Given the description of an element on the screen output the (x, y) to click on. 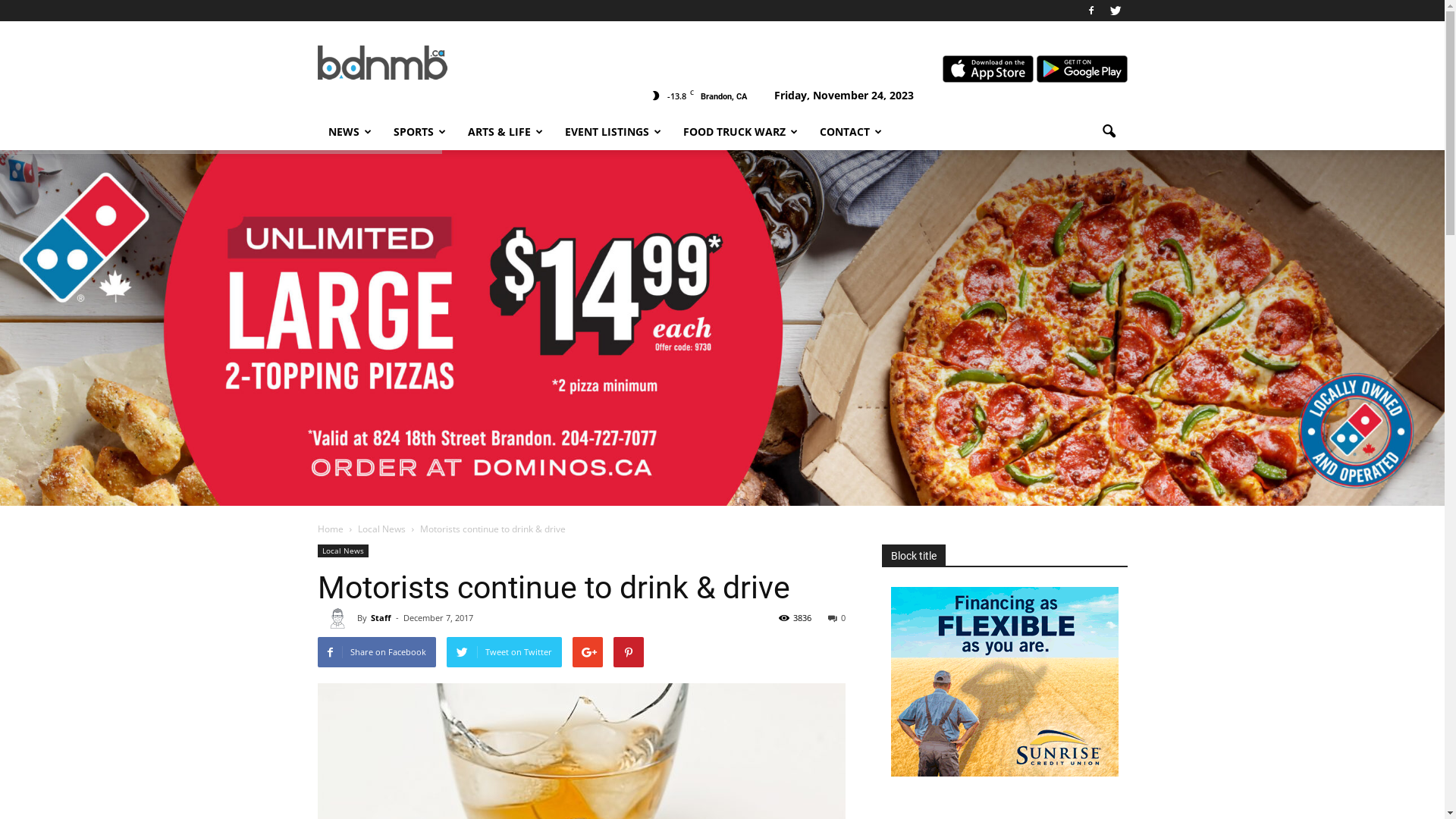
NEWS Element type: text (349, 131)
Home Element type: text (329, 528)
Local News Element type: text (341, 550)
SPORTS Element type: text (419, 131)
Staff Element type: text (380, 617)
Share on Facebook Element type: text (375, 652)
EVENT LISTINGS Element type: text (612, 131)
Facebook Element type: hover (1090, 10)
FOOD TRUCK WARZ Element type: text (739, 131)
Local News Element type: text (382, 528)
Tweet on Twitter Element type: text (503, 652)
ARTS & LIFE Element type: text (504, 131)
Twitter Element type: hover (1115, 10)
CONTACT Element type: text (850, 131)
0 Element type: text (836, 617)
